Given the description of an element on the screen output the (x, y) to click on. 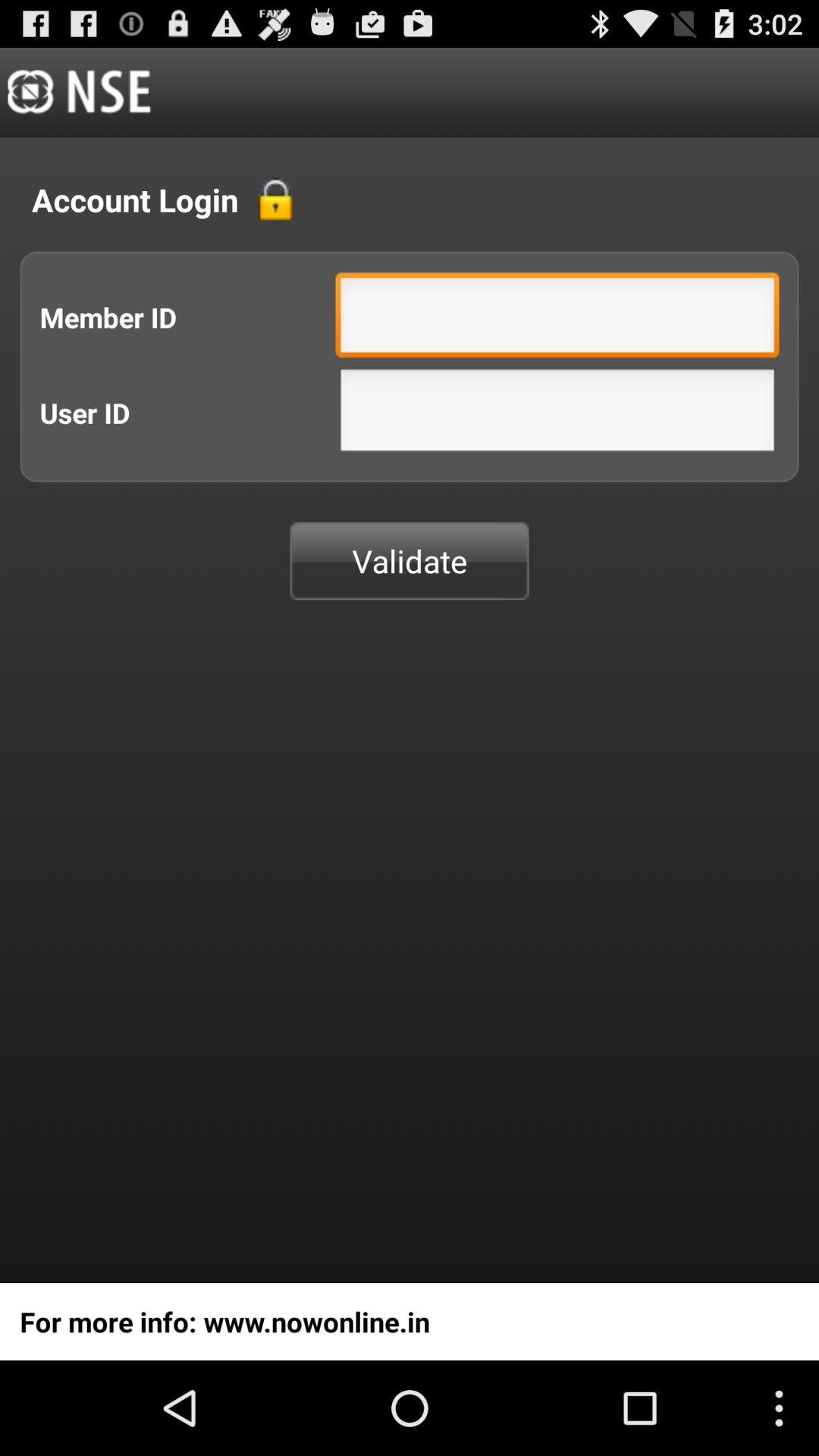
turn off the item above for more info item (409, 561)
